Given the description of an element on the screen output the (x, y) to click on. 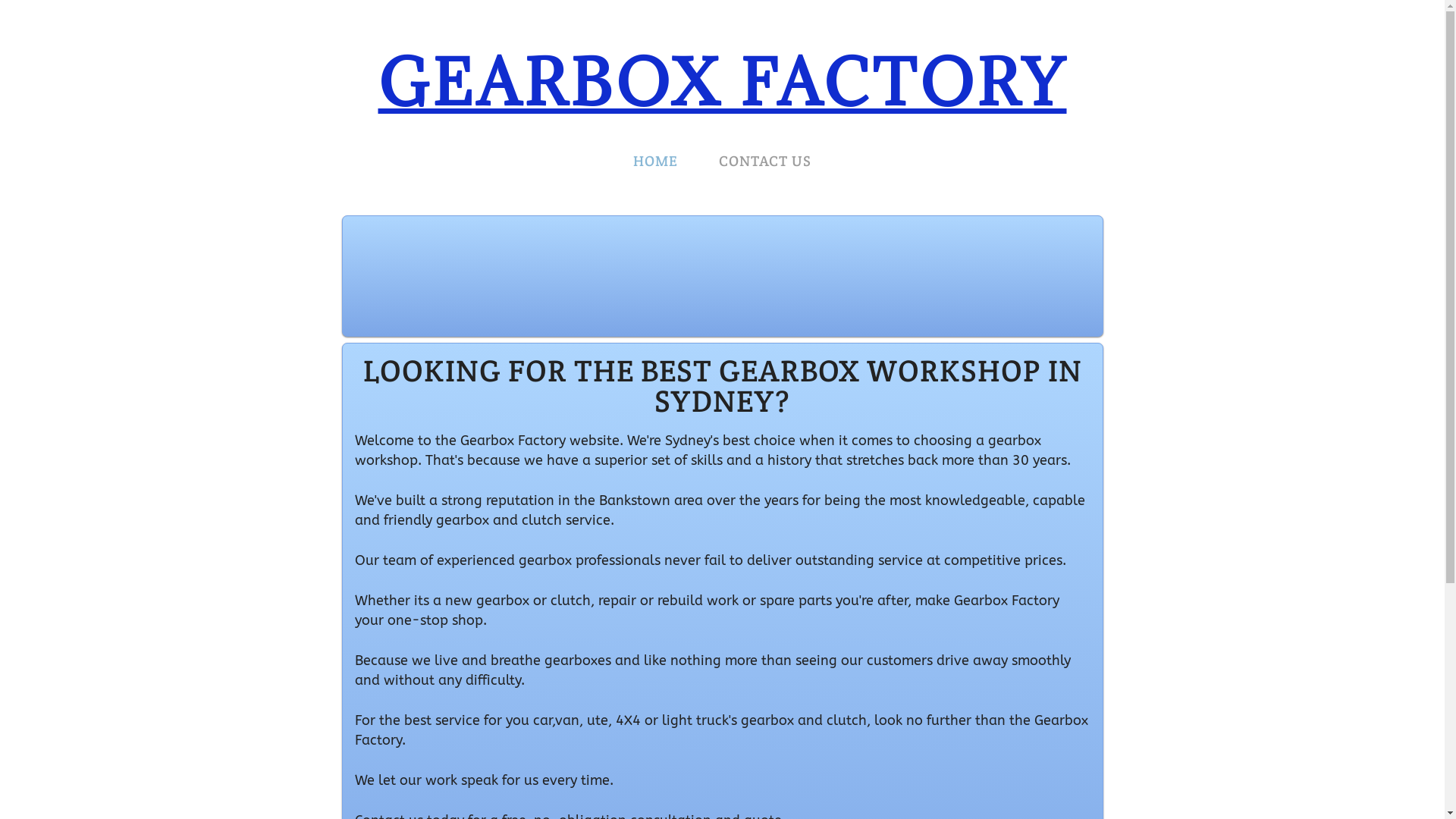
HOME Element type: text (655, 160)
CONTACT US Element type: text (764, 160)
GEARBOX FACTORY Element type: text (721, 81)
